Given the description of an element on the screen output the (x, y) to click on. 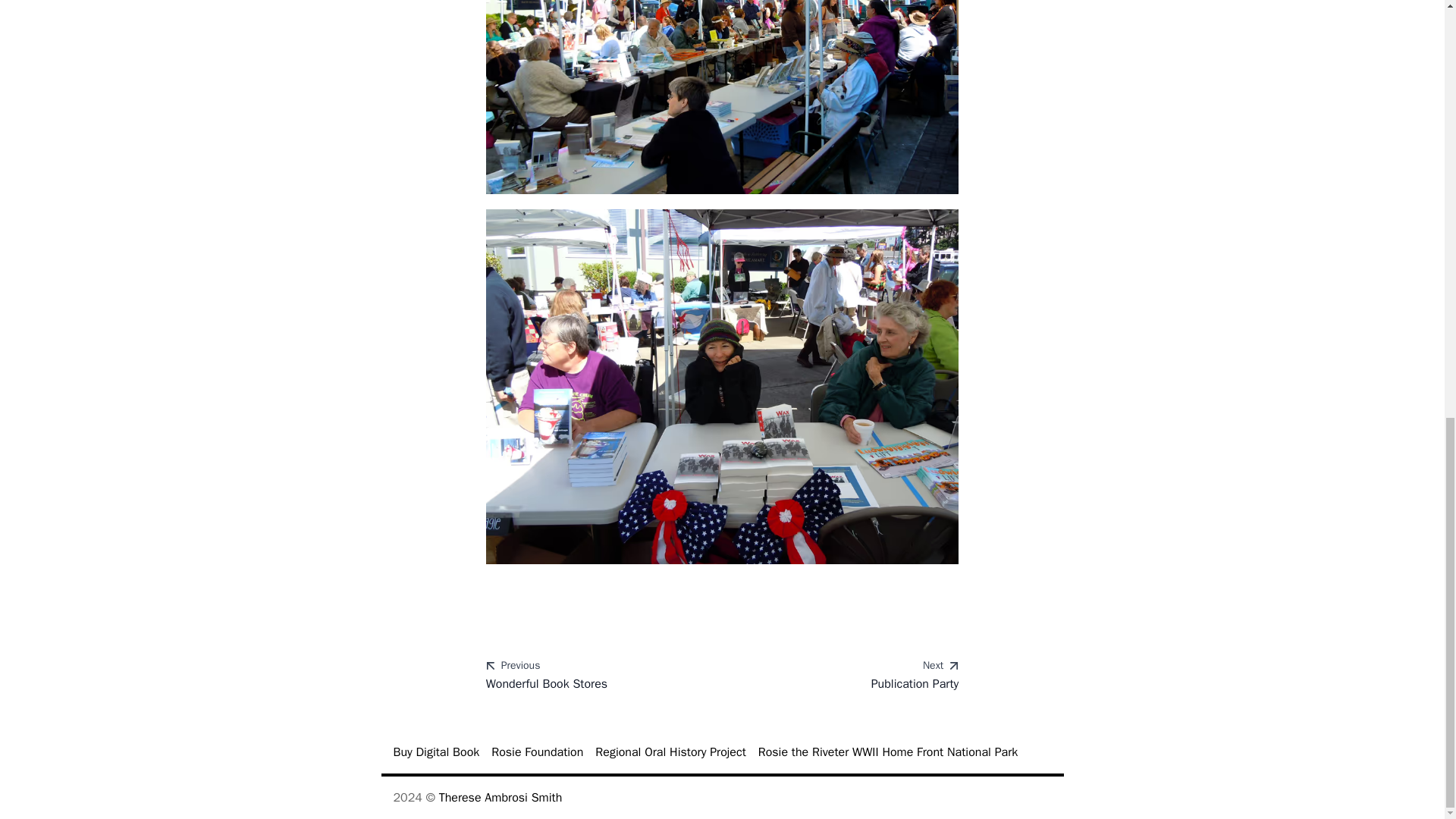
Rosie the Riveter WWII Home Front National Park (845, 676)
Regional Oral History Project (887, 751)
Therese Ambrosi Smith (670, 751)
Buy Digital Book (500, 797)
Rosie Foundation (436, 751)
